Given the description of an element on the screen output the (x, y) to click on. 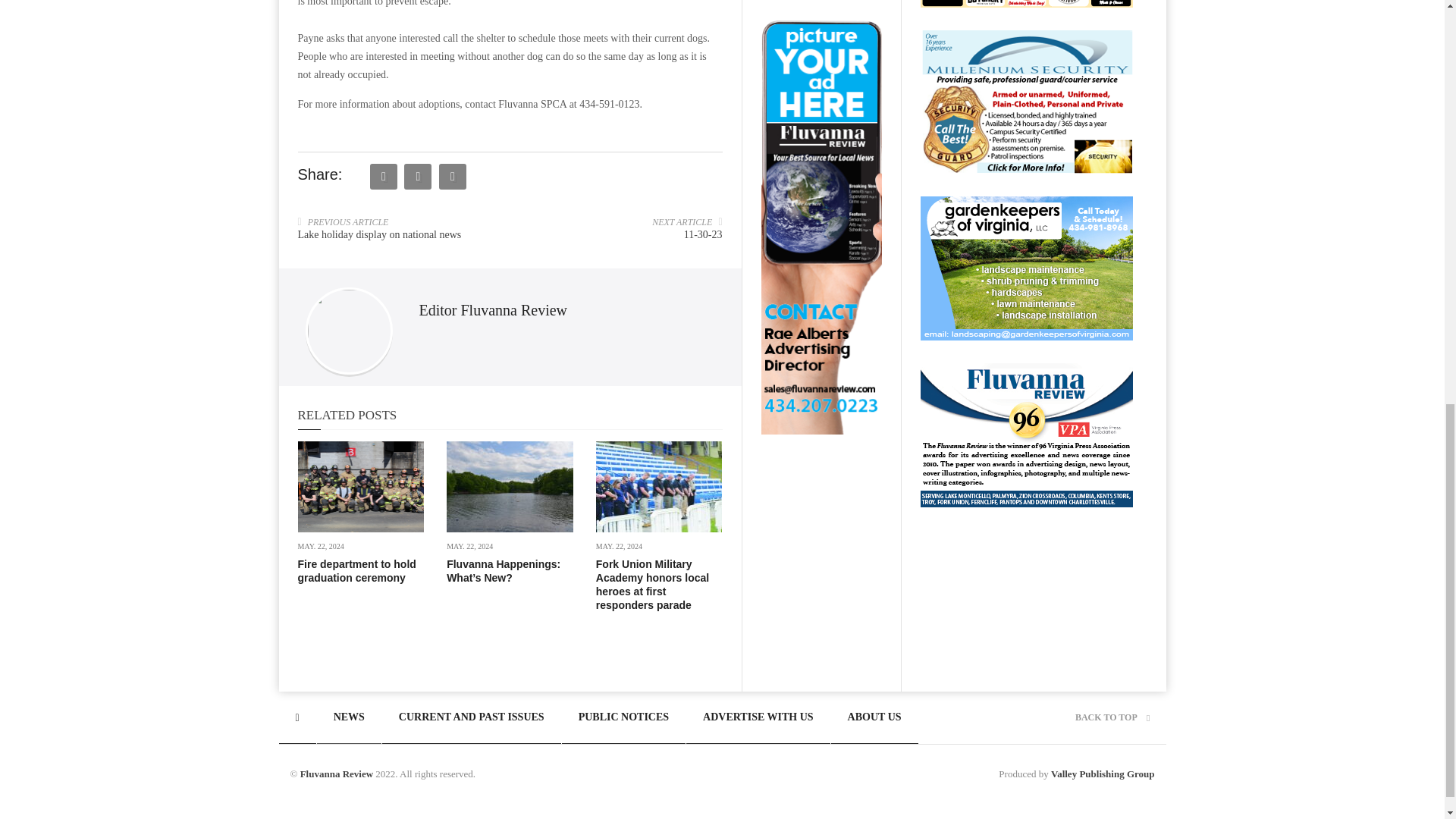
Lake holiday display on national news (379, 234)
Posts by Editor Fluvanna Review (493, 309)
BACK TO TOP (1112, 716)
11-30-23 (703, 234)
